Given the description of an element on the screen output the (x, y) to click on. 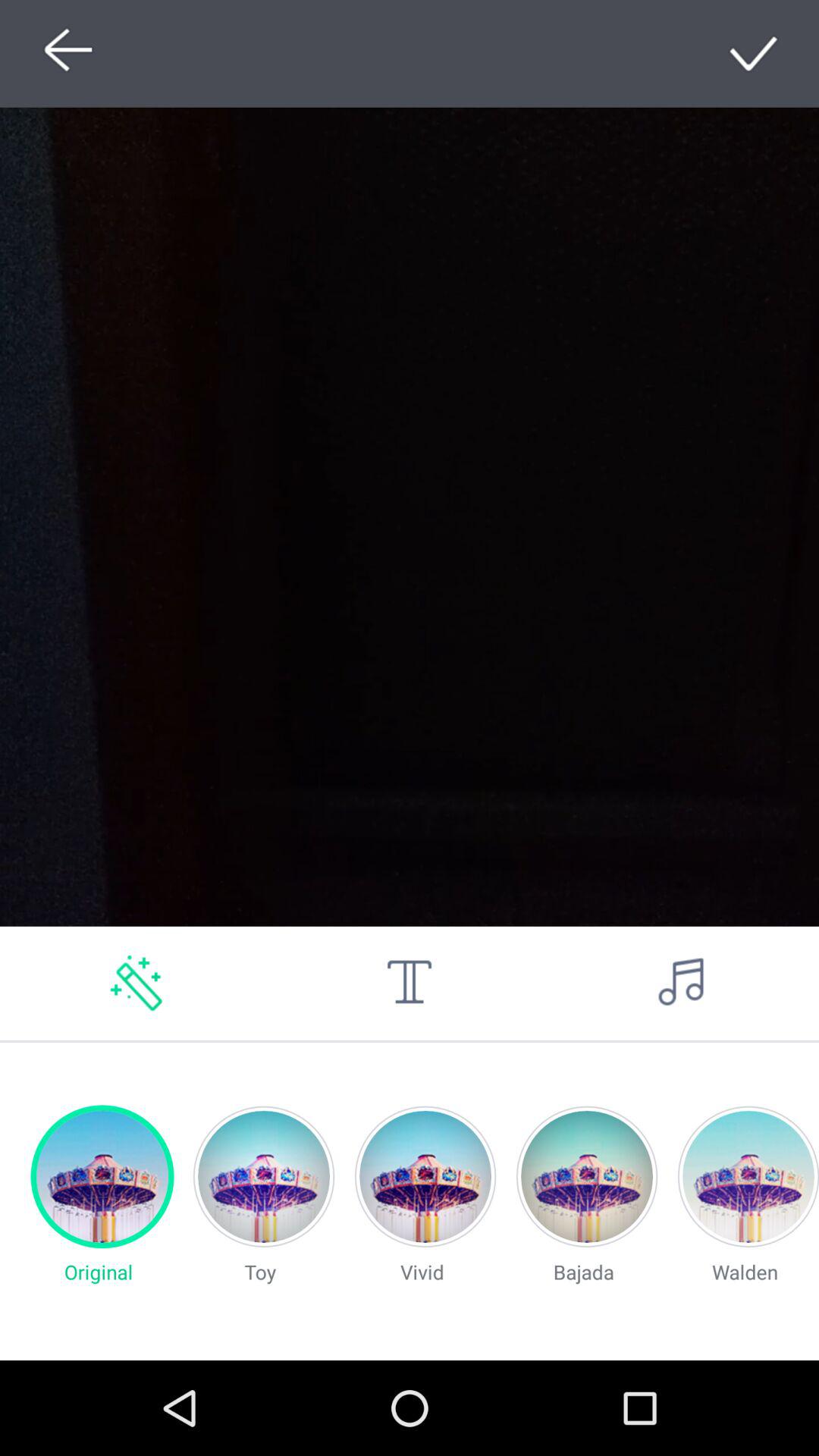
add effect (136, 983)
